Given the description of an element on the screen output the (x, y) to click on. 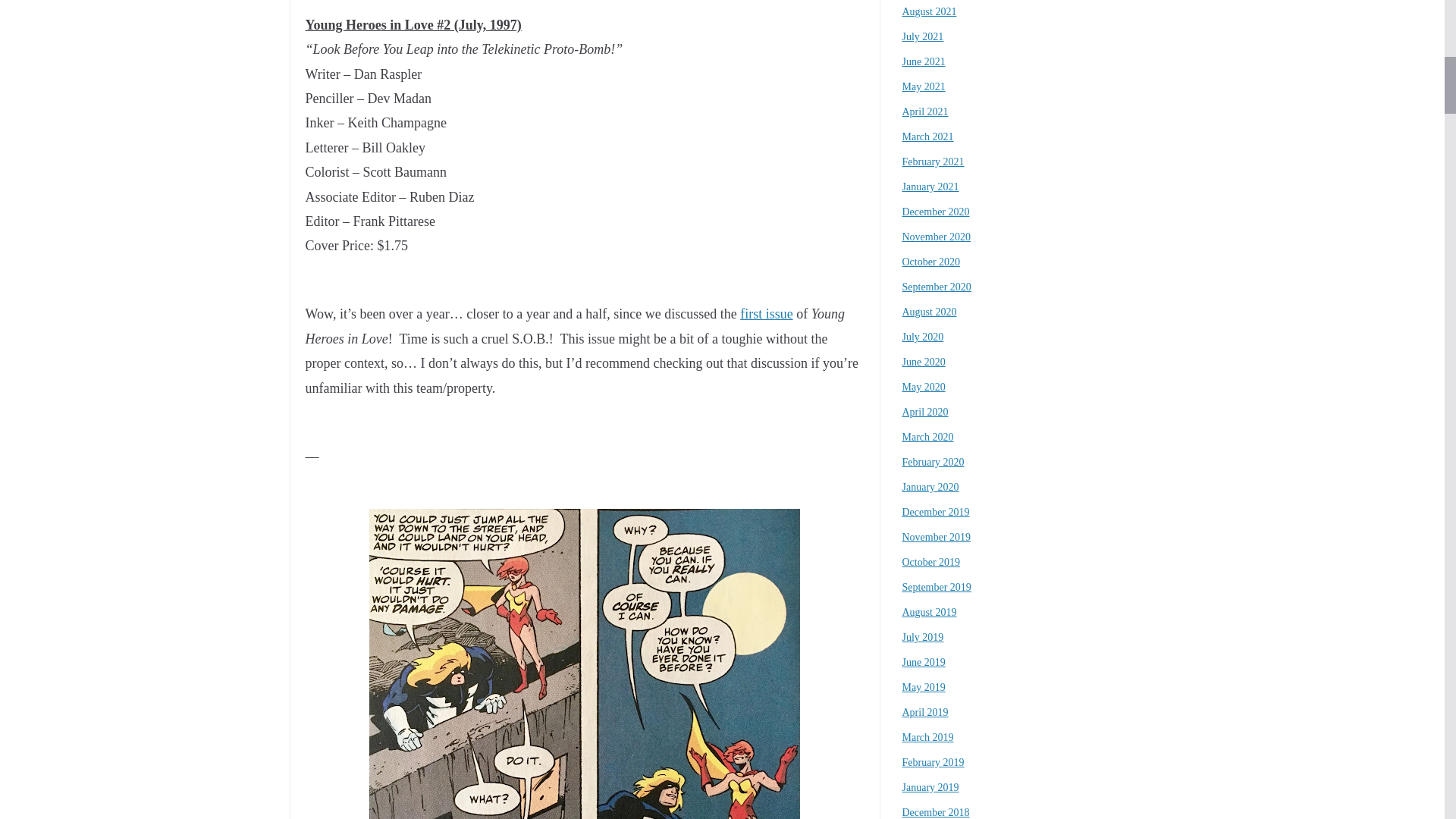
first issue (766, 313)
